Given the description of an element on the screen output the (x, y) to click on. 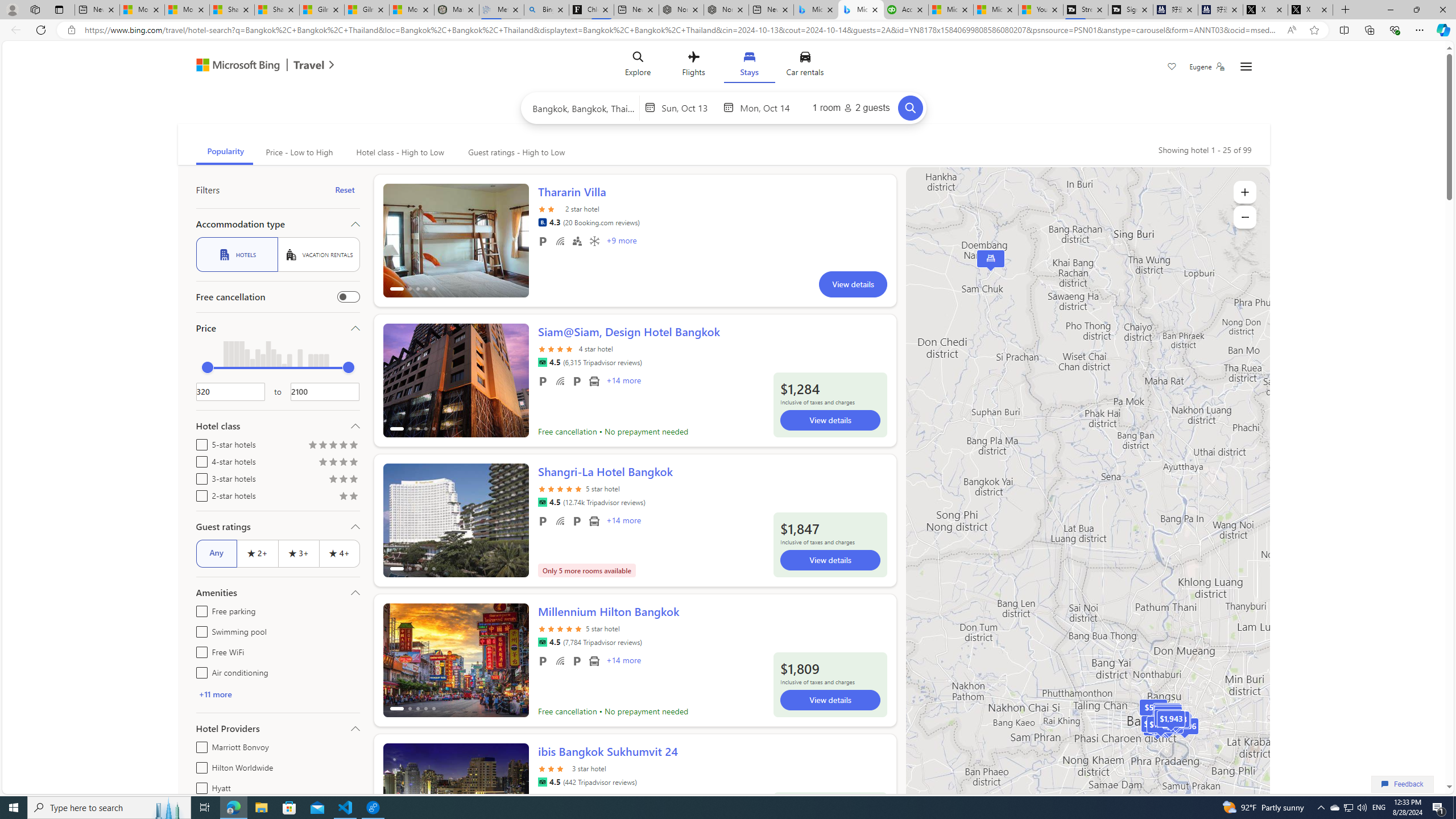
Microsoft Bing Travel - Stays in Bangkok, Bangkok, Thailand (861, 9)
Any (216, 553)
Class: msft-bing-logo msft-bing-logo-desktop (234, 64)
AutomationID: TextField872 (230, 391)
Price - Low to High (298, 152)
Restore (1416, 9)
Minimize (1390, 9)
Microsoft Bing Travel (253, 65)
